Given the description of an element on the screen output the (x, y) to click on. 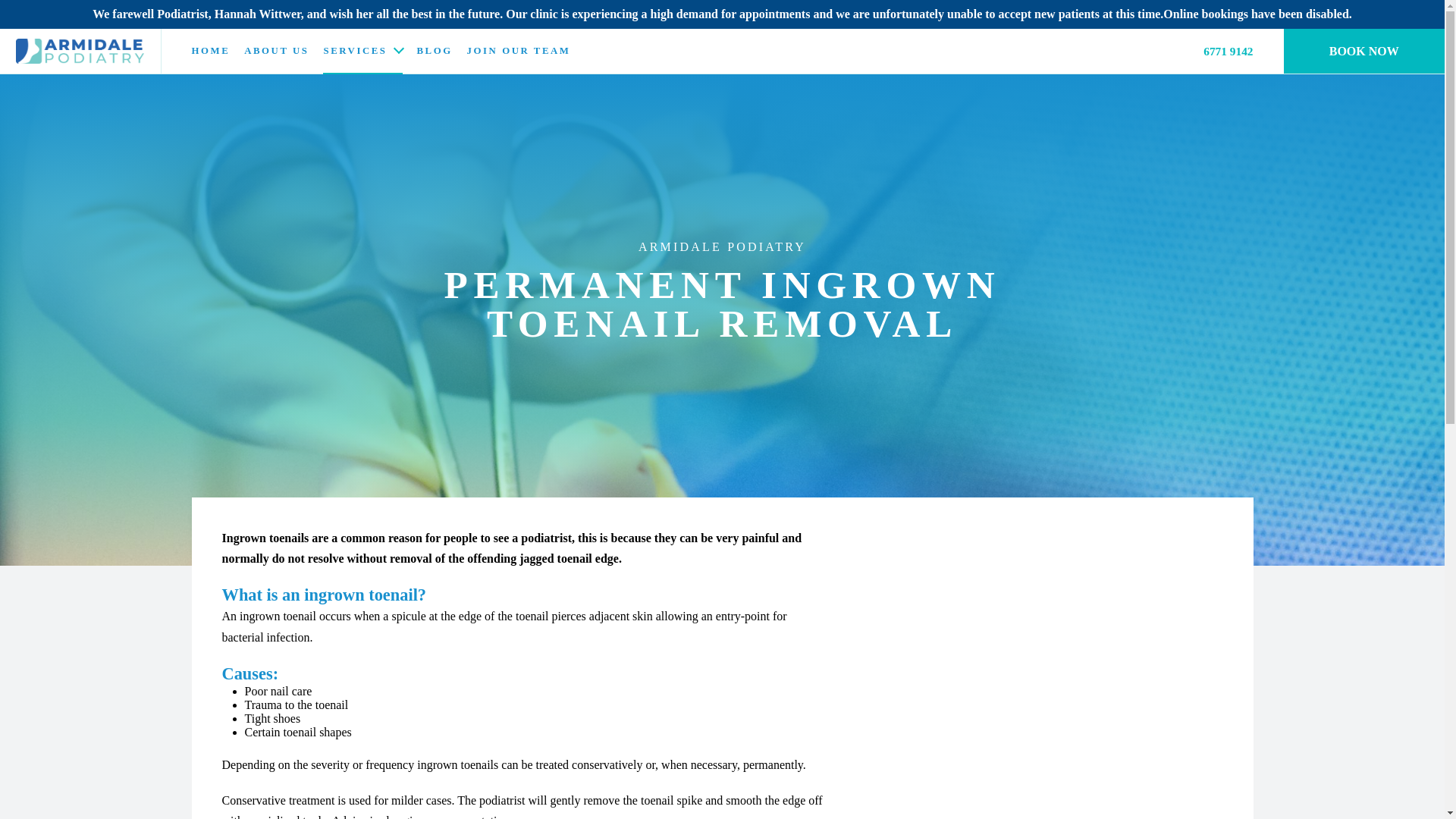
SHOCKWAVE THERAPY (340, 78)
6771 9142 (1228, 50)
HOME (210, 50)
JOIN OUR TEAM (518, 50)
call us (1228, 50)
ABOUT US (276, 50)
DRY NEEDLING (320, 78)
PERMANENT INGROWN TOENAIL REMOVAL (362, 82)
FOOT ORTHOTICS (328, 78)
SERVICES (355, 50)
Go Home (80, 50)
BLOG (433, 50)
PRODUCTS (308, 78)
